Given the description of an element on the screen output the (x, y) to click on. 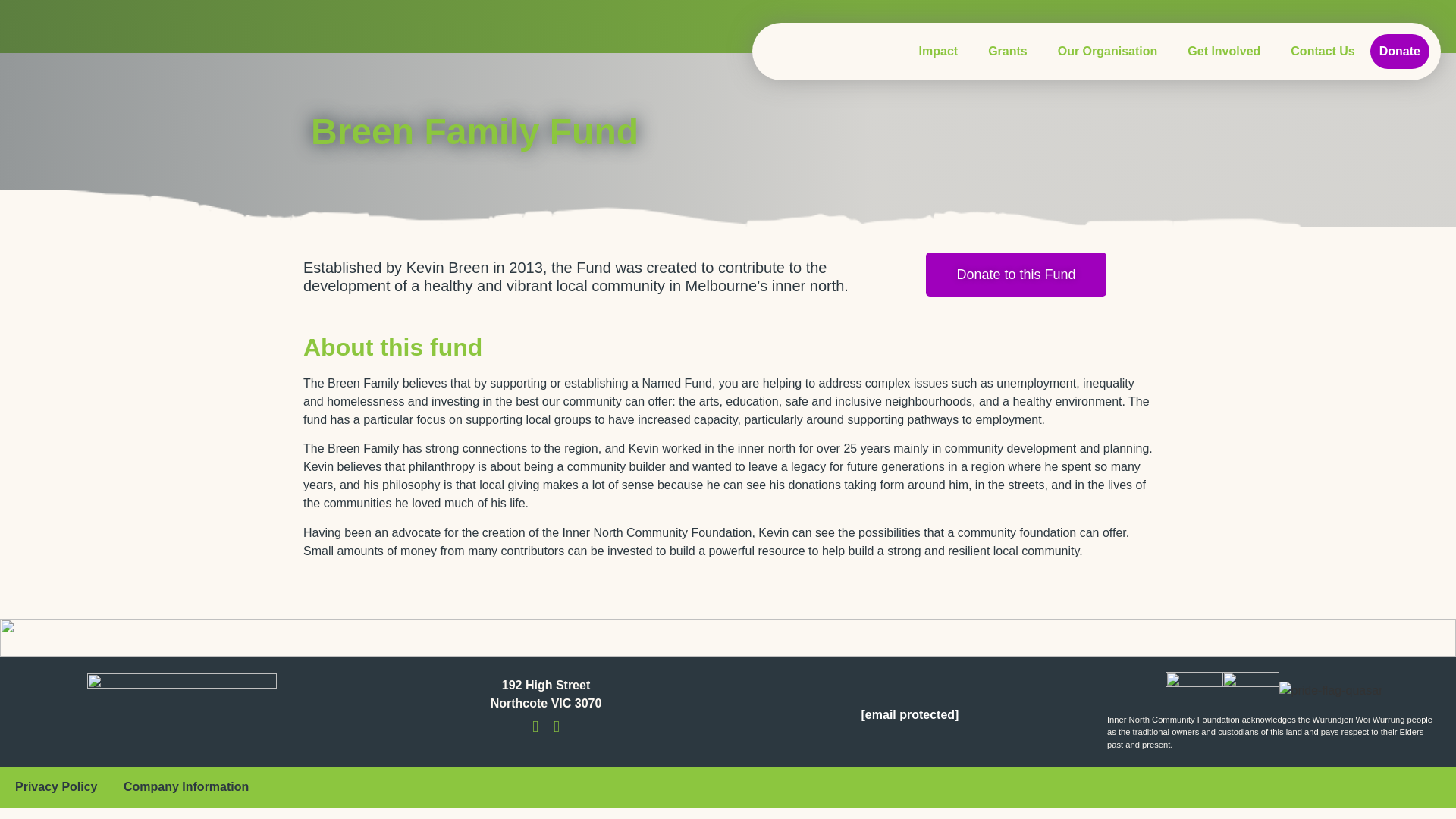
Impact (939, 51)
Donate (1399, 51)
Grants (1007, 51)
Our Organisation (1107, 51)
Contact Us (1322, 51)
pride-flag-quasar (1331, 690)
Get Involved (1223, 51)
